Given the description of an element on the screen output the (x, y) to click on. 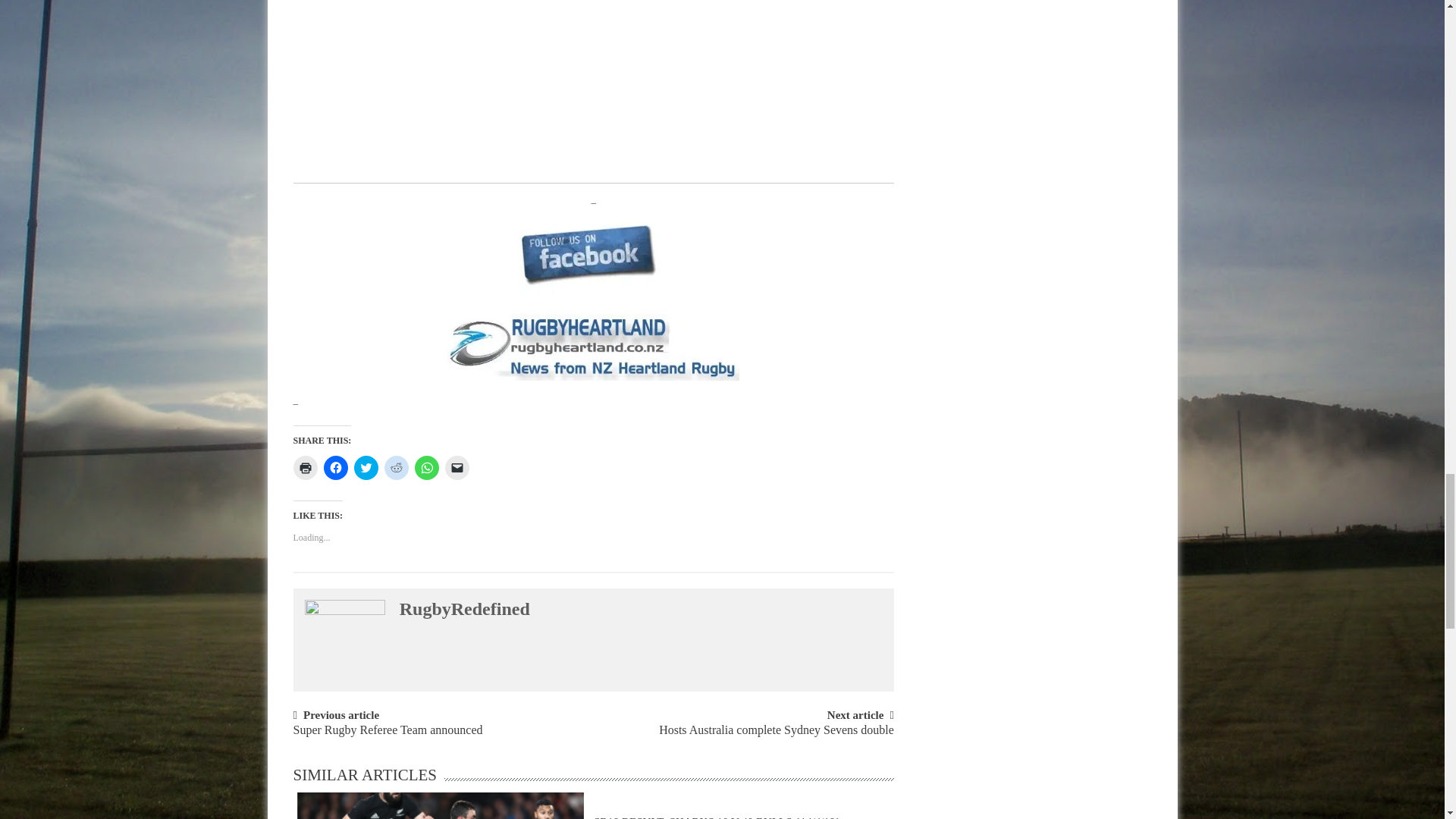
RugbyRedefined (463, 608)
Click to print (304, 467)
Click to share on Twitter (365, 467)
Click to share on WhatsApp (425, 467)
Click to share on Reddit (395, 467)
Click to email a link to a friend (456, 467)
Hosts Australia complete Sydney Sevens double (776, 737)
Super Rugby Referee Team announced (386, 737)
Click to share on Facebook (335, 467)
